Given the description of an element on the screen output the (x, y) to click on. 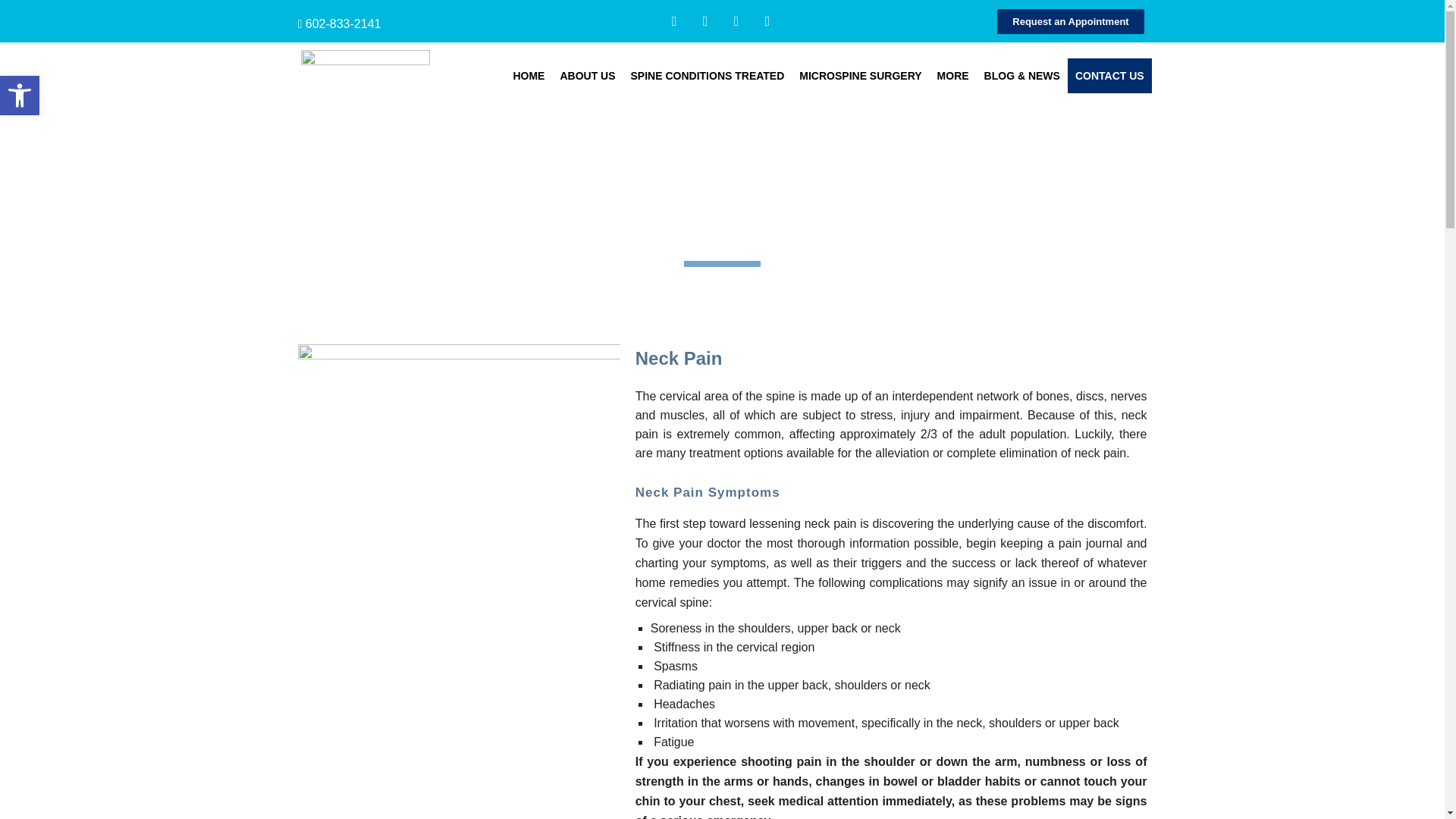
MICROSPINE SURGERY (860, 75)
Request an Appointment (1069, 21)
602-833-2141 (343, 23)
Accessibility Tools (19, 95)
ABOUT US (587, 75)
602-833-2141 (343, 23)
HOME (528, 75)
Accessibility Tools (19, 95)
SPINE CONDITIONS TREATED (707, 75)
